Given the description of an element on the screen output the (x, y) to click on. 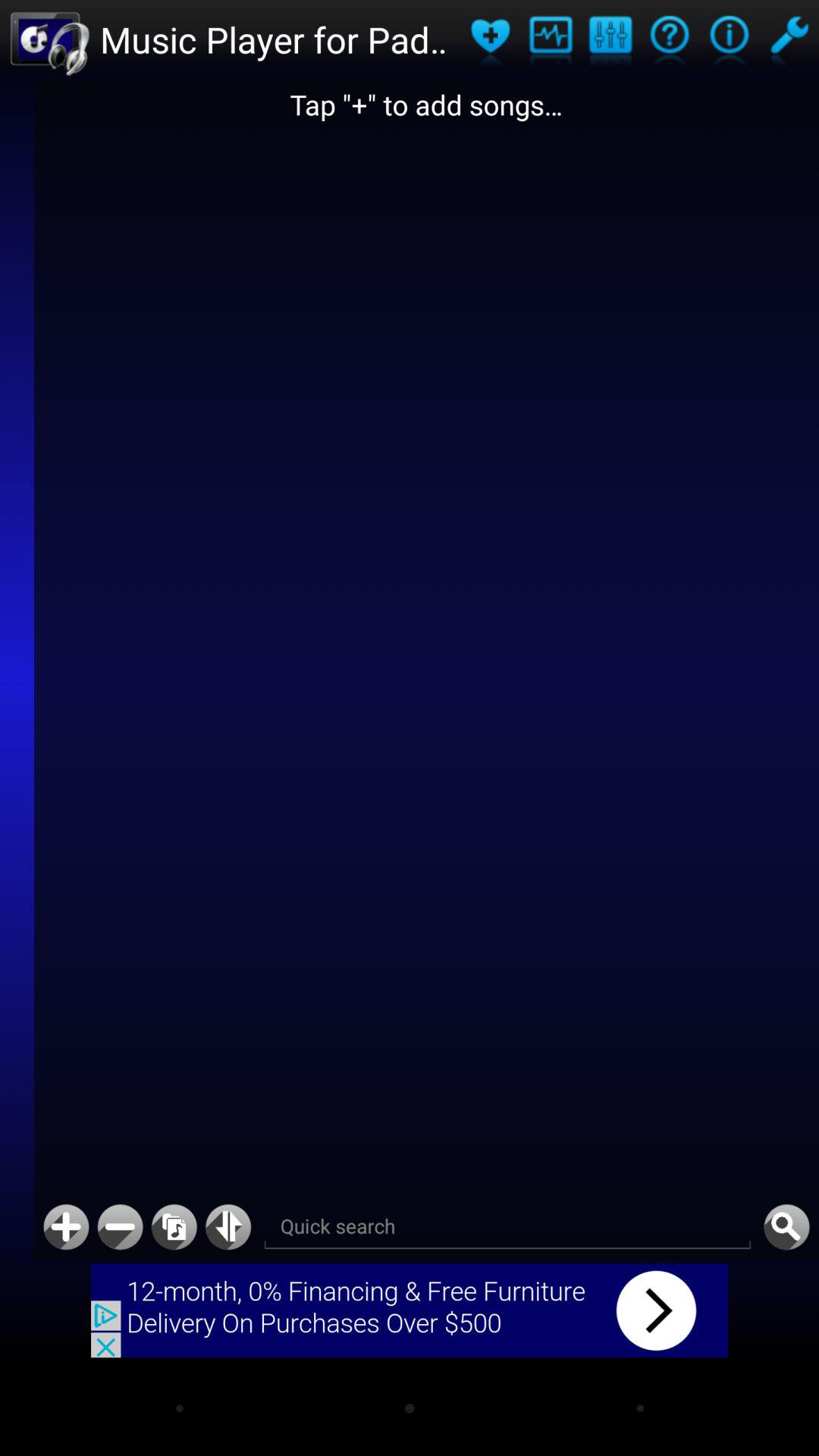
furniture advertisement (409, 1310)
